Given the description of an element on the screen output the (x, y) to click on. 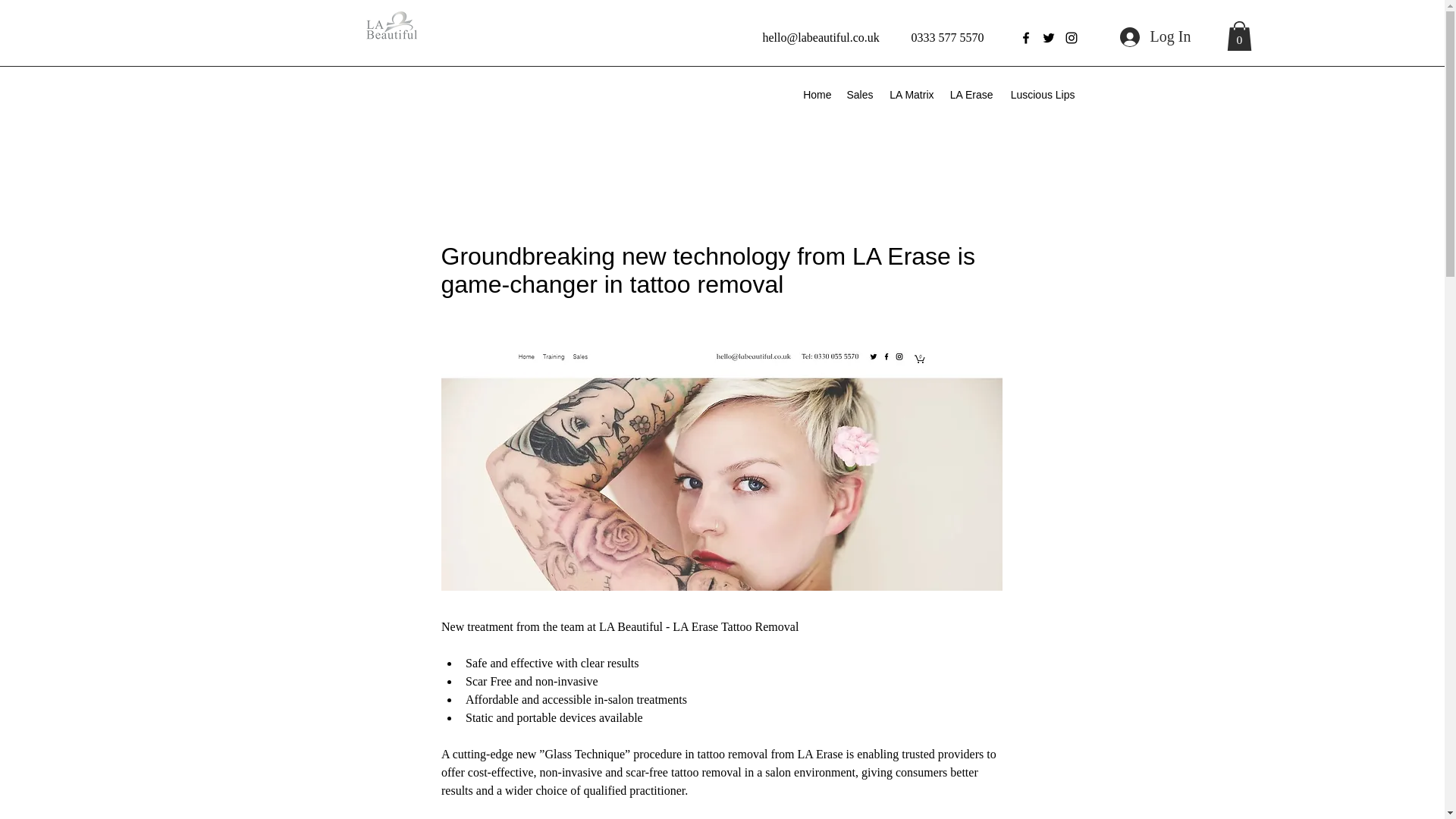
LA Matrix (911, 94)
LA Erase (971, 94)
Log In (1153, 36)
Home (816, 94)
Sales (859, 94)
Luscious Lips (1042, 94)
